Given the description of an element on the screen output the (x, y) to click on. 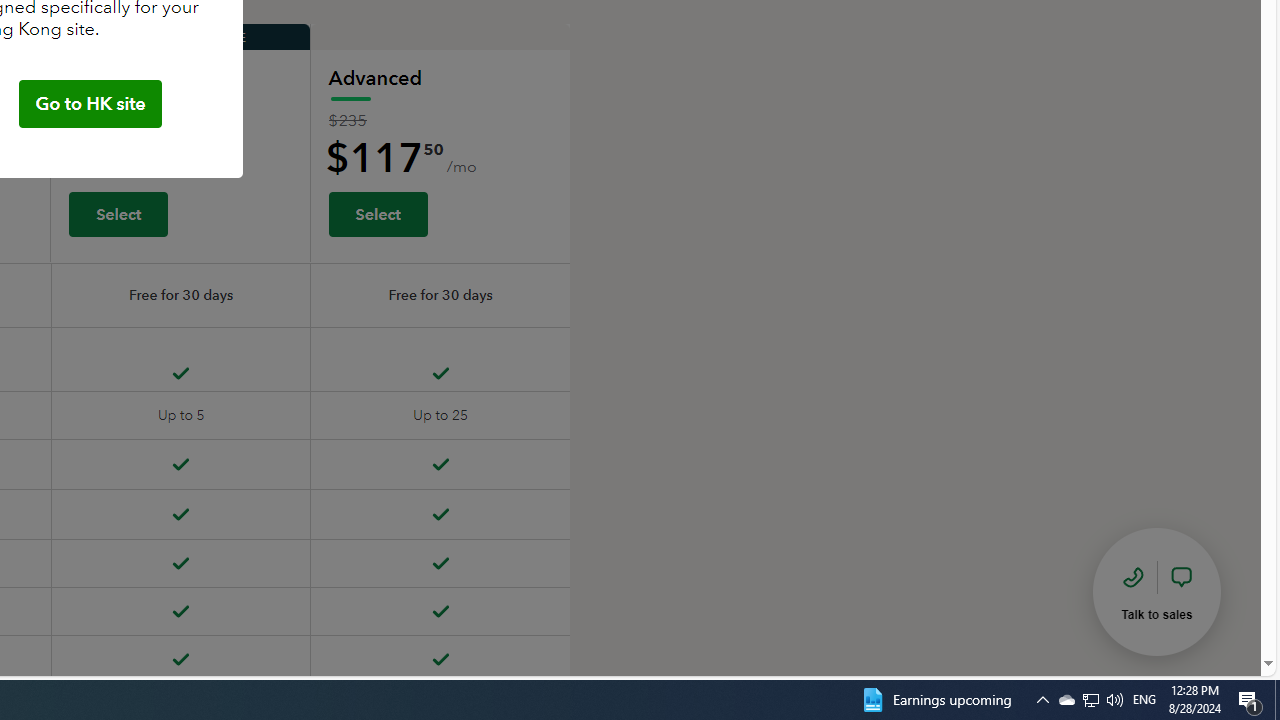
talk to sales (1157, 591)
Select advanced (377, 213)
Select plus (118, 213)
